Given the description of an element on the screen output the (x, y) to click on. 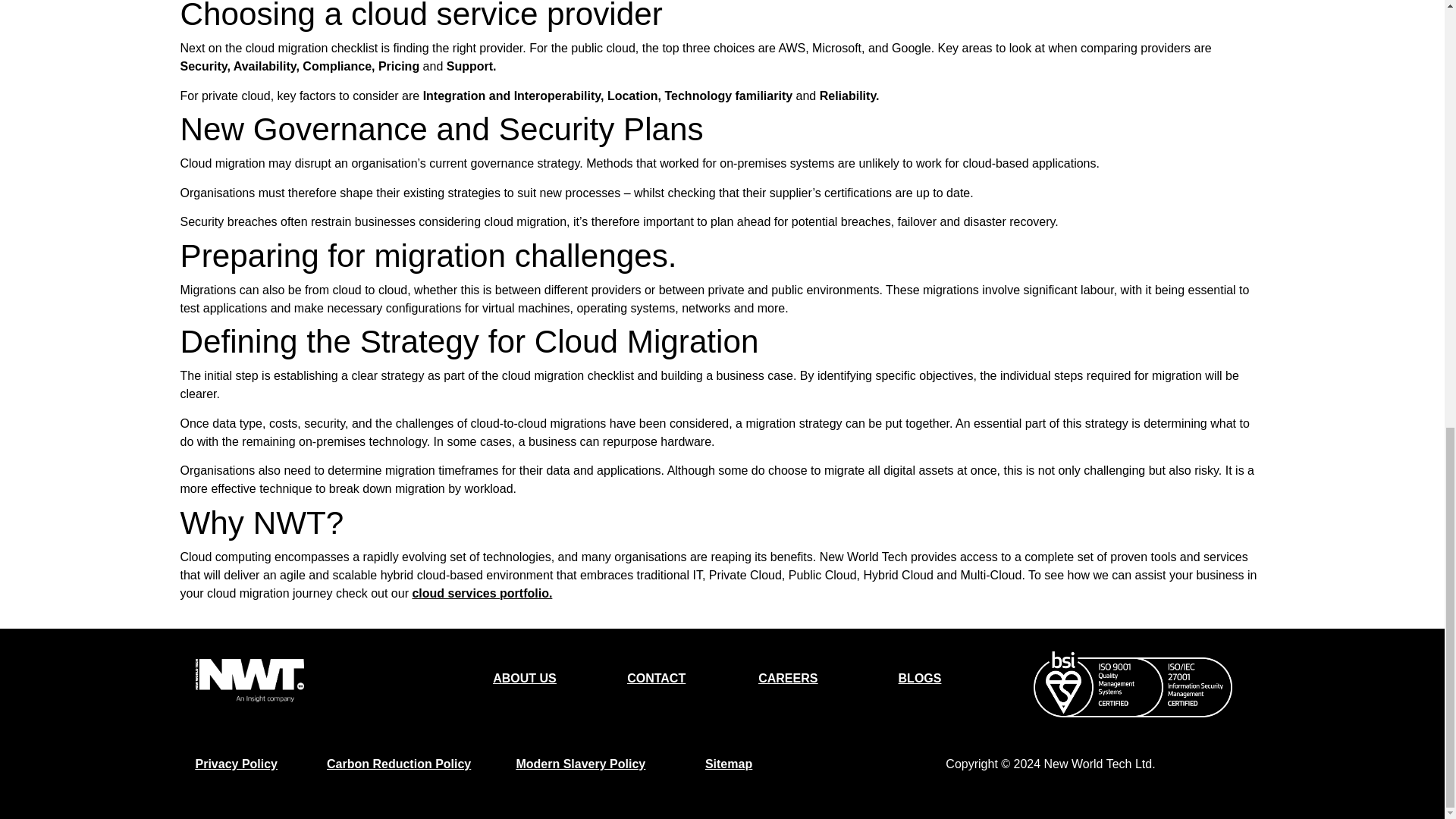
Sitemap (728, 763)
CAREERS (787, 677)
Privacy Policy (236, 763)
Modern Slavery Policy (580, 763)
ABOUT US (524, 677)
CONTACT (656, 677)
BLOGS (920, 677)
Carbon Reduction Policy (398, 763)
cloud services portfolio. (481, 593)
